Given the description of an element on the screen output the (x, y) to click on. 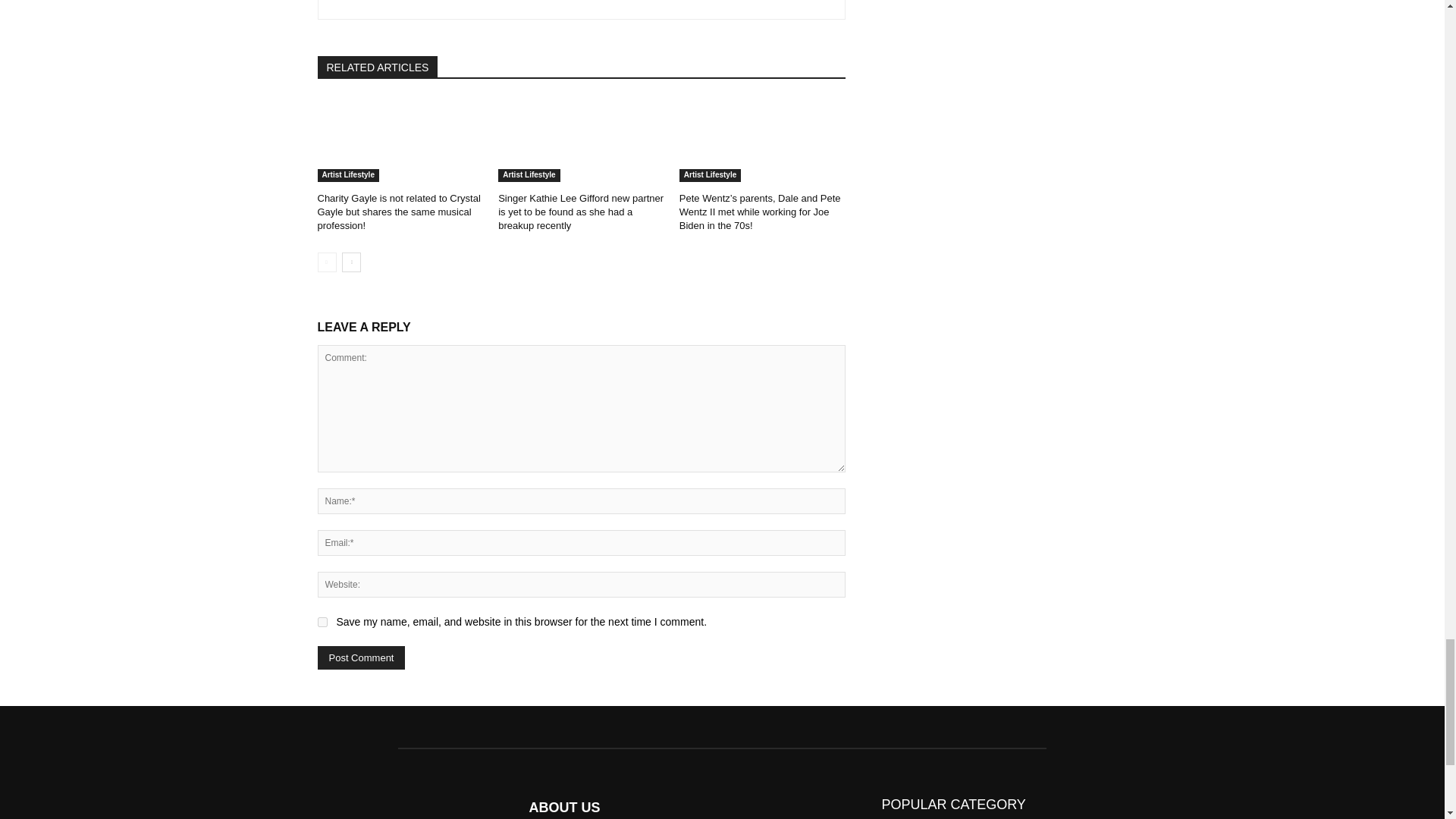
yes (321, 622)
Alexander (377, 1)
Post Comment (360, 657)
